Given the description of an element on the screen output the (x, y) to click on. 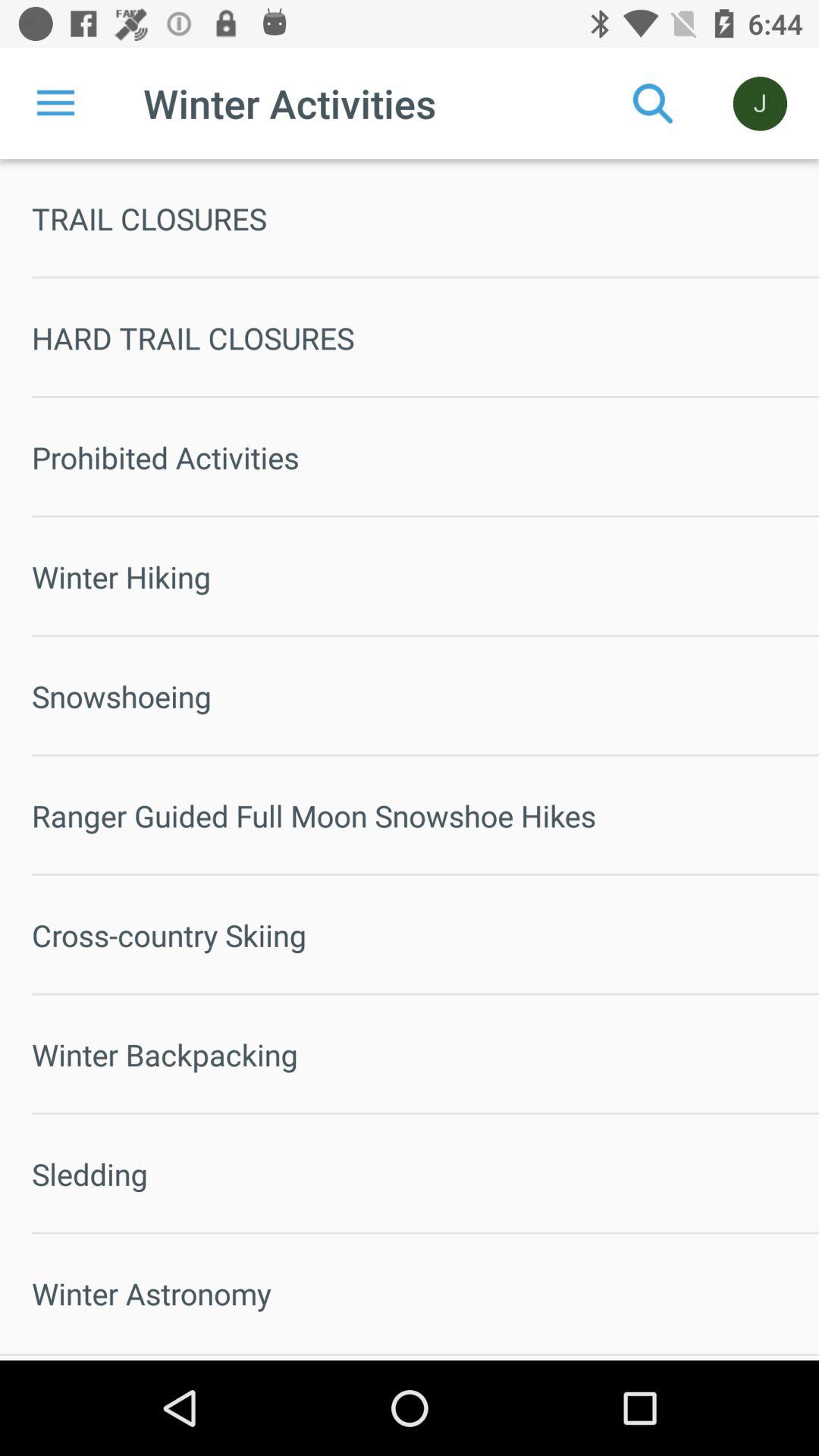
turn off the winter hiking item (425, 576)
